Given the description of an element on the screen output the (x, y) to click on. 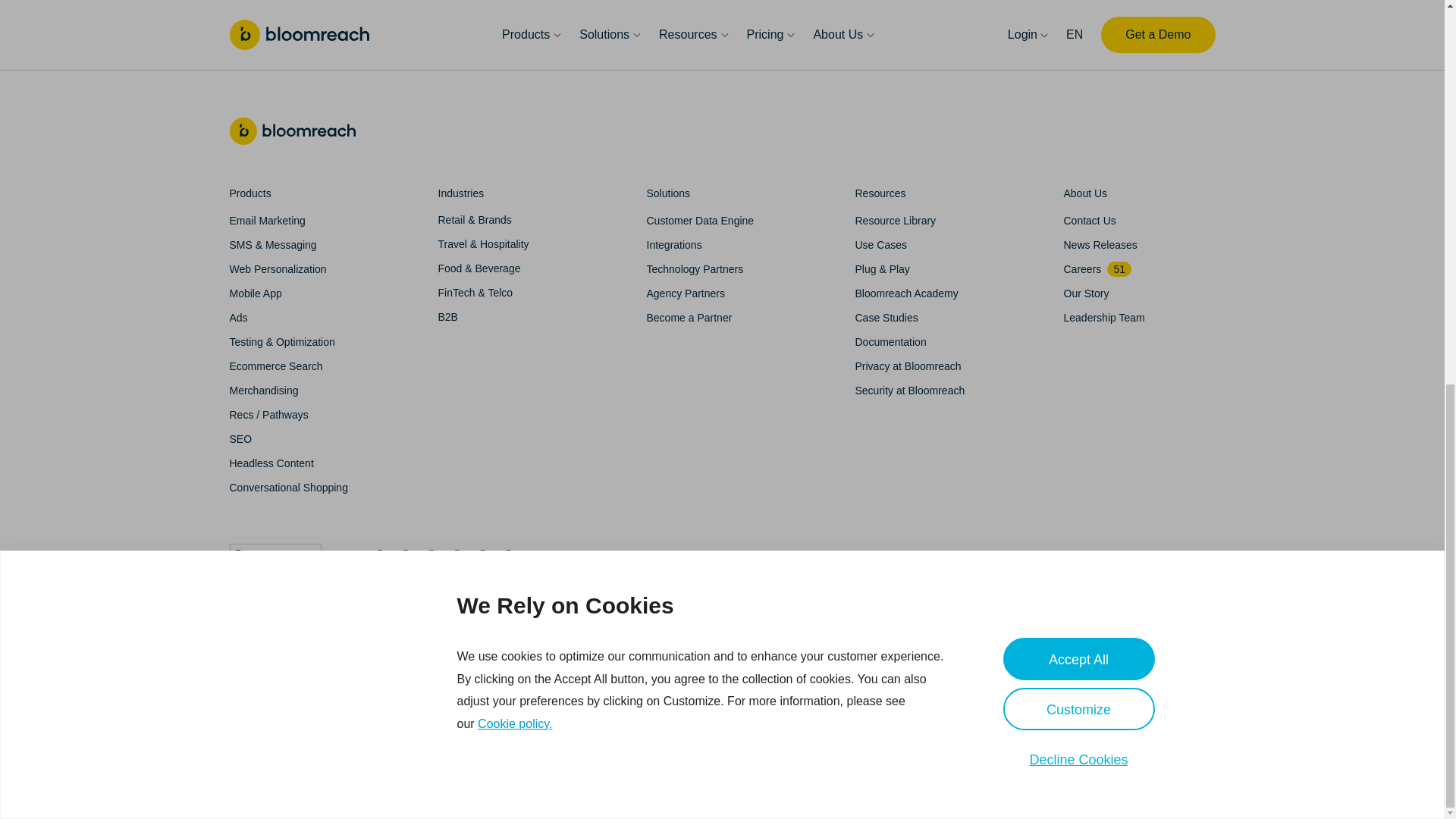
Customize (1078, 4)
Decline Cookies (1078, 37)
Cookie policy. (514, 4)
